Given the description of an element on the screen output the (x, y) to click on. 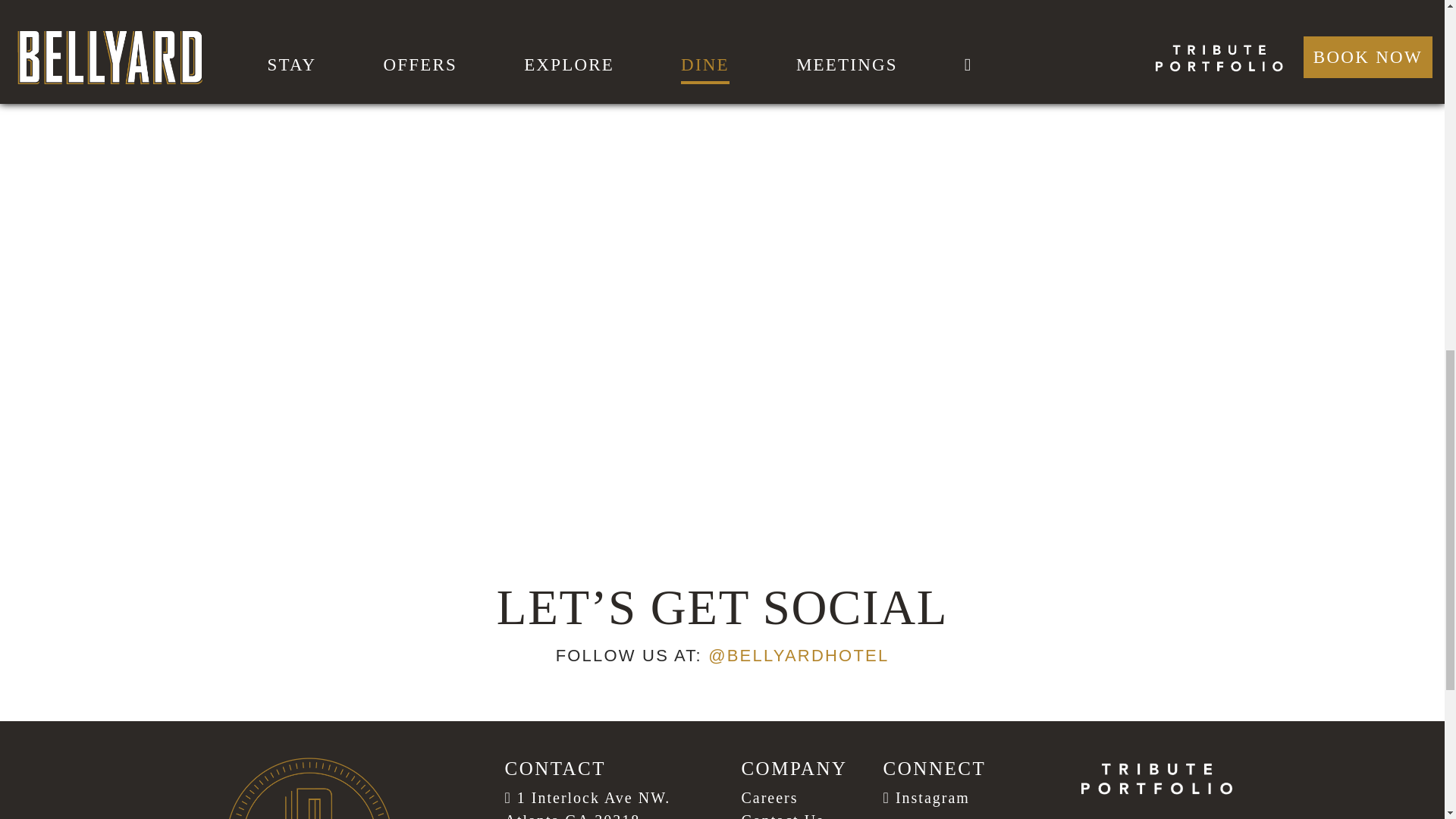
Instagram (926, 797)
Contact Us (782, 815)
Careers (769, 797)
